Given the description of an element on the screen output the (x, y) to click on. 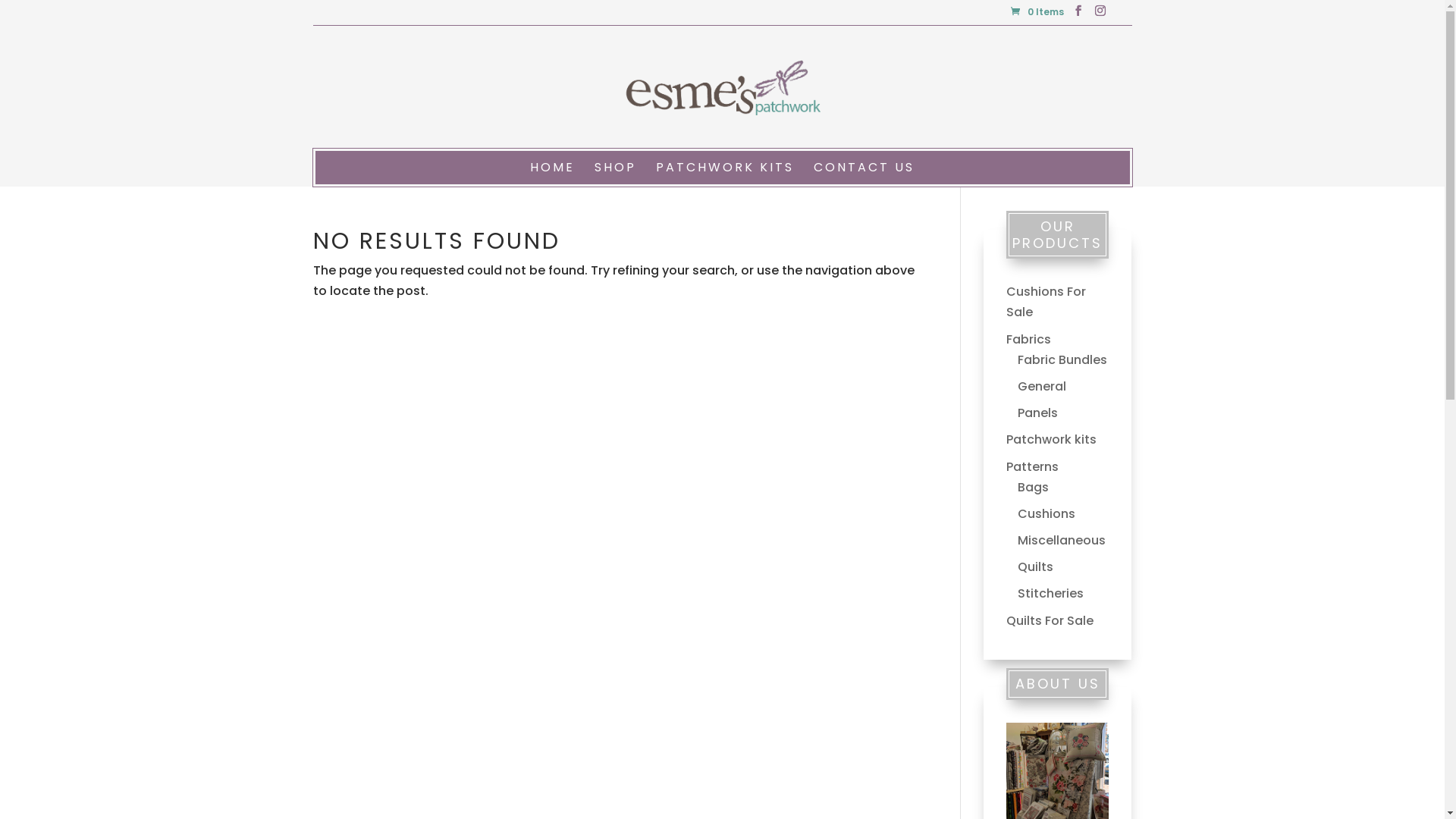
Patchwork kits Element type: text (1051, 439)
Bags Element type: text (1032, 486)
Cushions For Sale Element type: text (1045, 301)
Fabrics Element type: text (1028, 339)
HOME Element type: text (552, 173)
General Element type: text (1041, 386)
Cushions Element type: text (1046, 513)
0 Items Element type: text (1036, 11)
Patterns Element type: text (1032, 466)
SHOP Element type: text (615, 173)
Quilts Element type: text (1035, 566)
Stitcheries Element type: text (1050, 593)
Miscellaneous Element type: text (1061, 540)
Quilts For Sale Element type: text (1049, 620)
Panels Element type: text (1037, 412)
Fabric Bundles Element type: text (1062, 359)
PATCHWORK KITS Element type: text (724, 173)
CONTACT US Element type: text (863, 173)
